Given the description of an element on the screen output the (x, y) to click on. 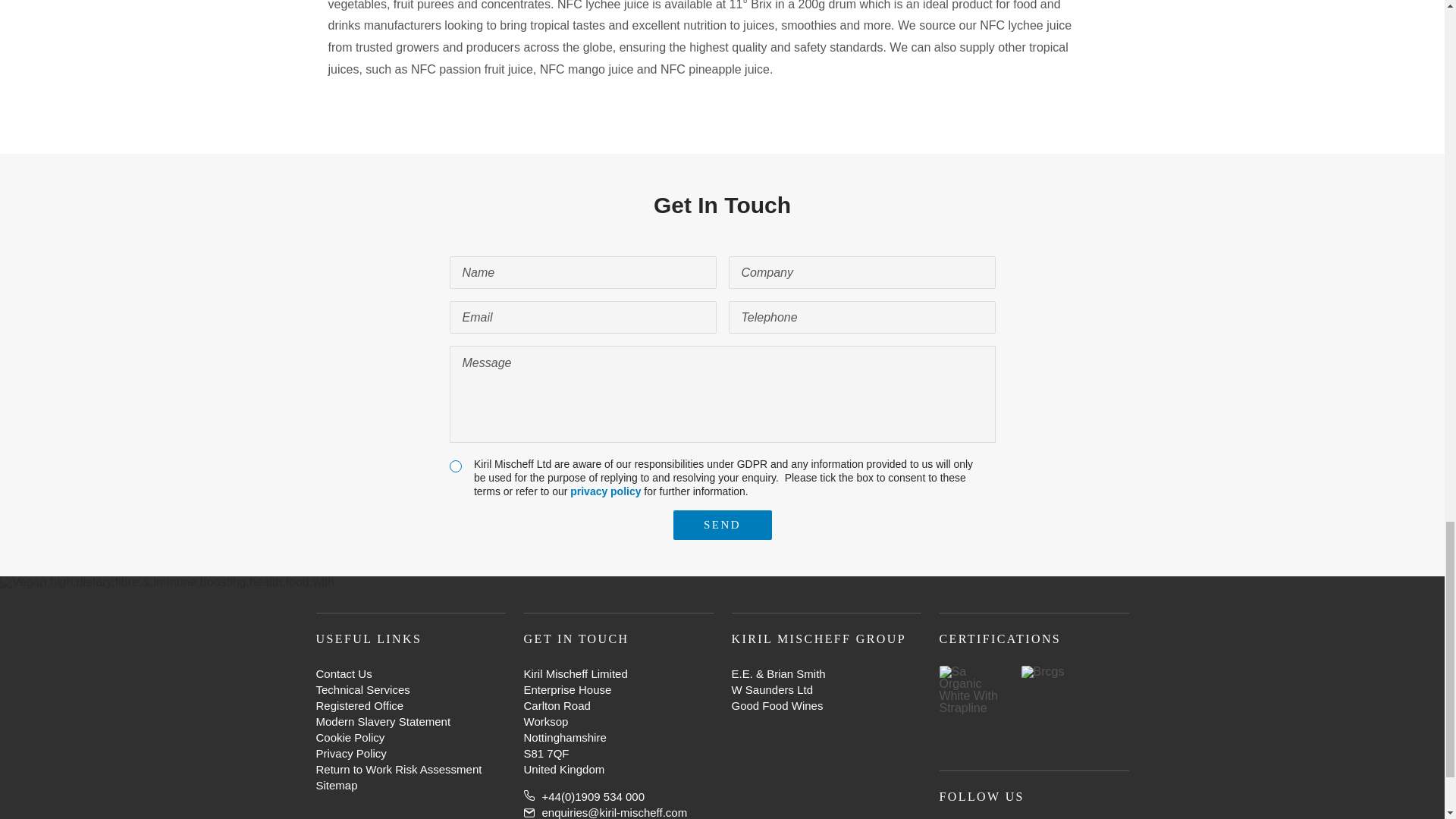
1 (454, 466)
Send (721, 524)
